Given the description of an element on the screen output the (x, y) to click on. 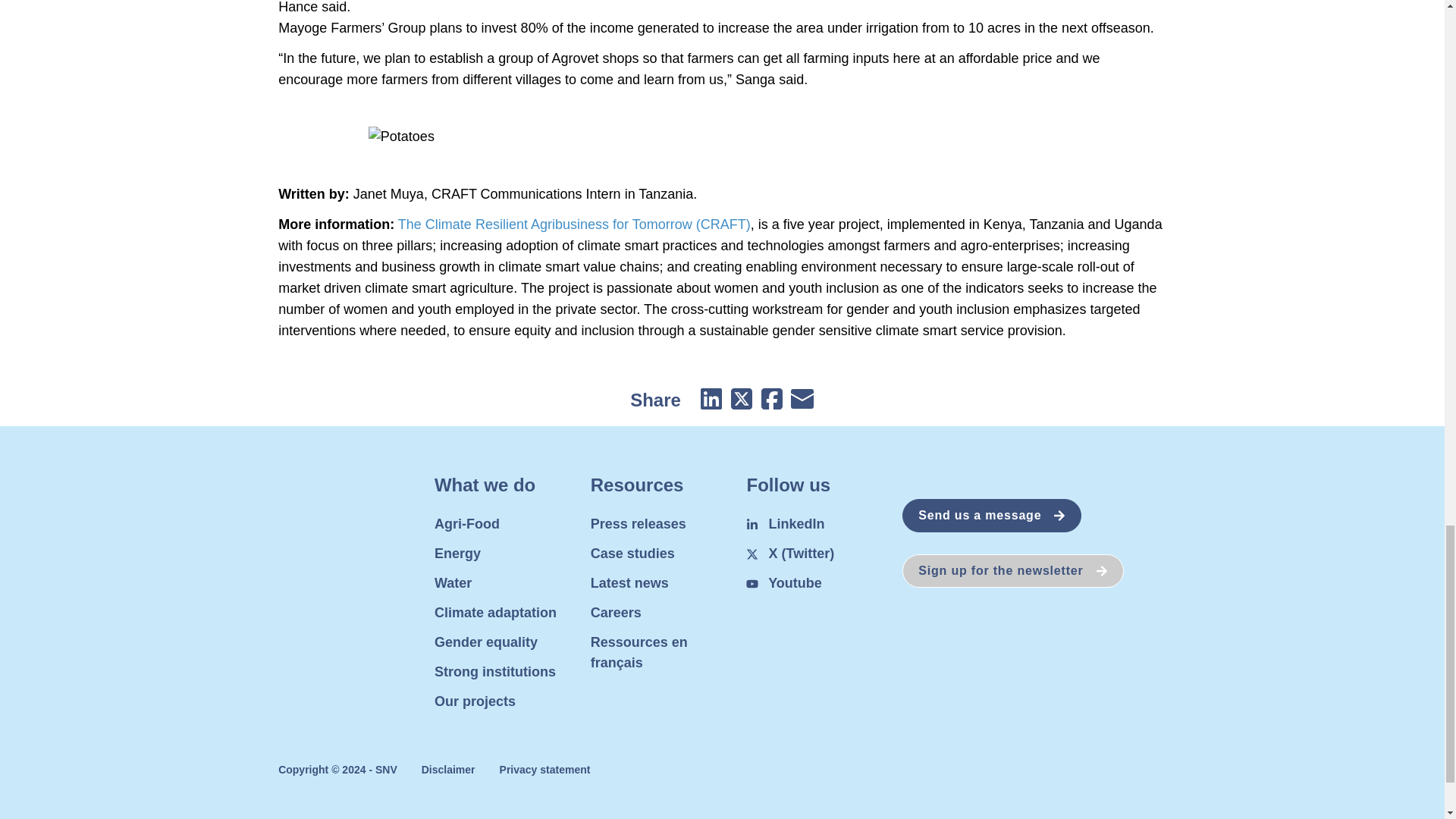
LinkedIn (784, 523)
Strong institutions (494, 671)
Latest news (629, 582)
Our projects (474, 701)
Careers (616, 612)
Gender equality (485, 642)
Case studies (633, 553)
Climate adaptation (494, 612)
Press releases (638, 523)
Agri-Food (466, 523)
Water (452, 582)
Energy (456, 553)
